Given the description of an element on the screen output the (x, y) to click on. 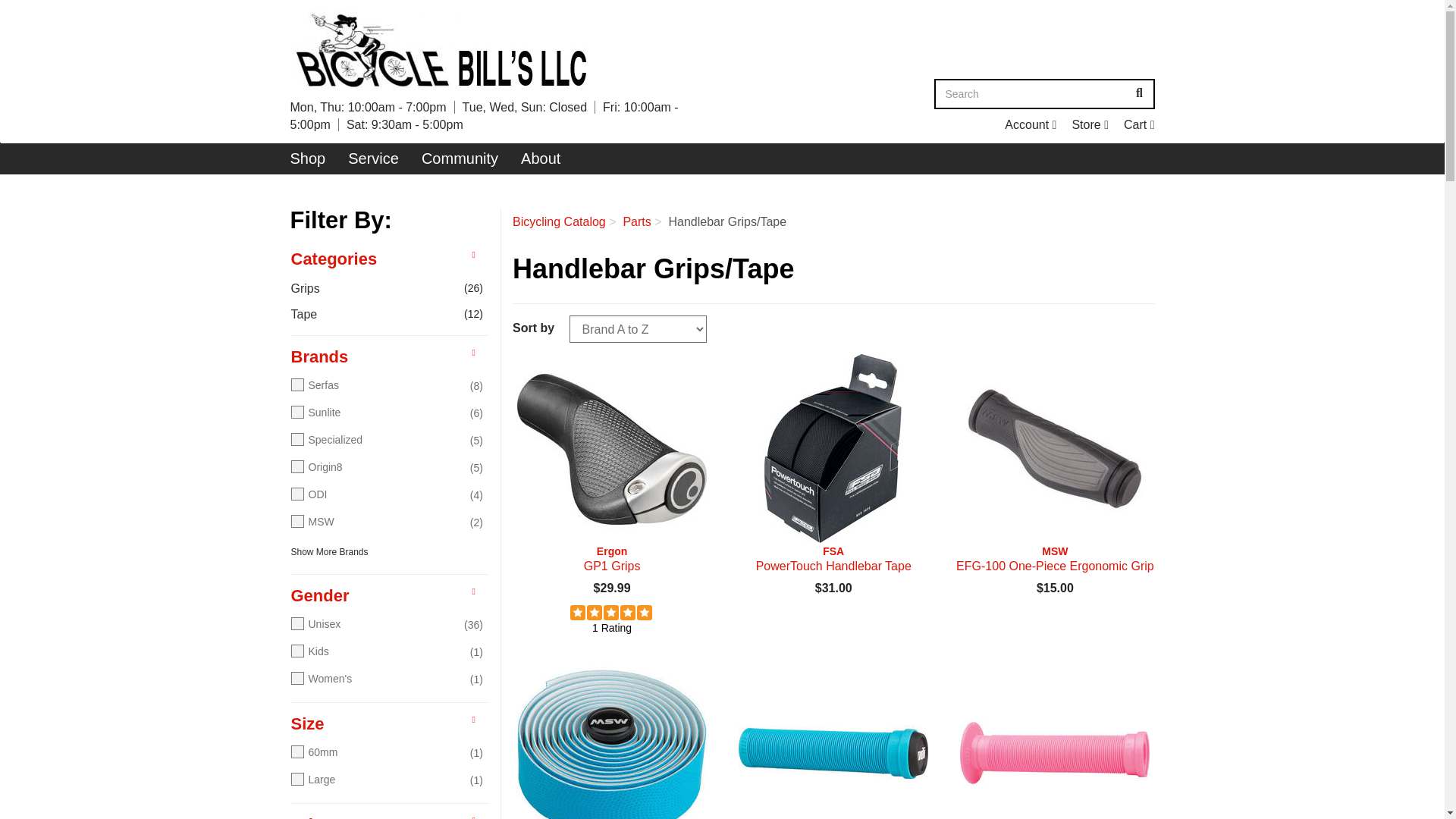
Shop (308, 158)
Ergon GP1 Grips (1139, 124)
FSA PowerTouch Handlebar Tape (611, 558)
Ergon GP1 Grips (833, 448)
Search (611, 448)
Store (1030, 124)
Cart (1089, 124)
Grips (1139, 93)
Search (1089, 124)
Bicycle Bill's Home Page (1139, 124)
Account (374, 289)
Tape (1031, 93)
